Given the description of an element on the screen output the (x, y) to click on. 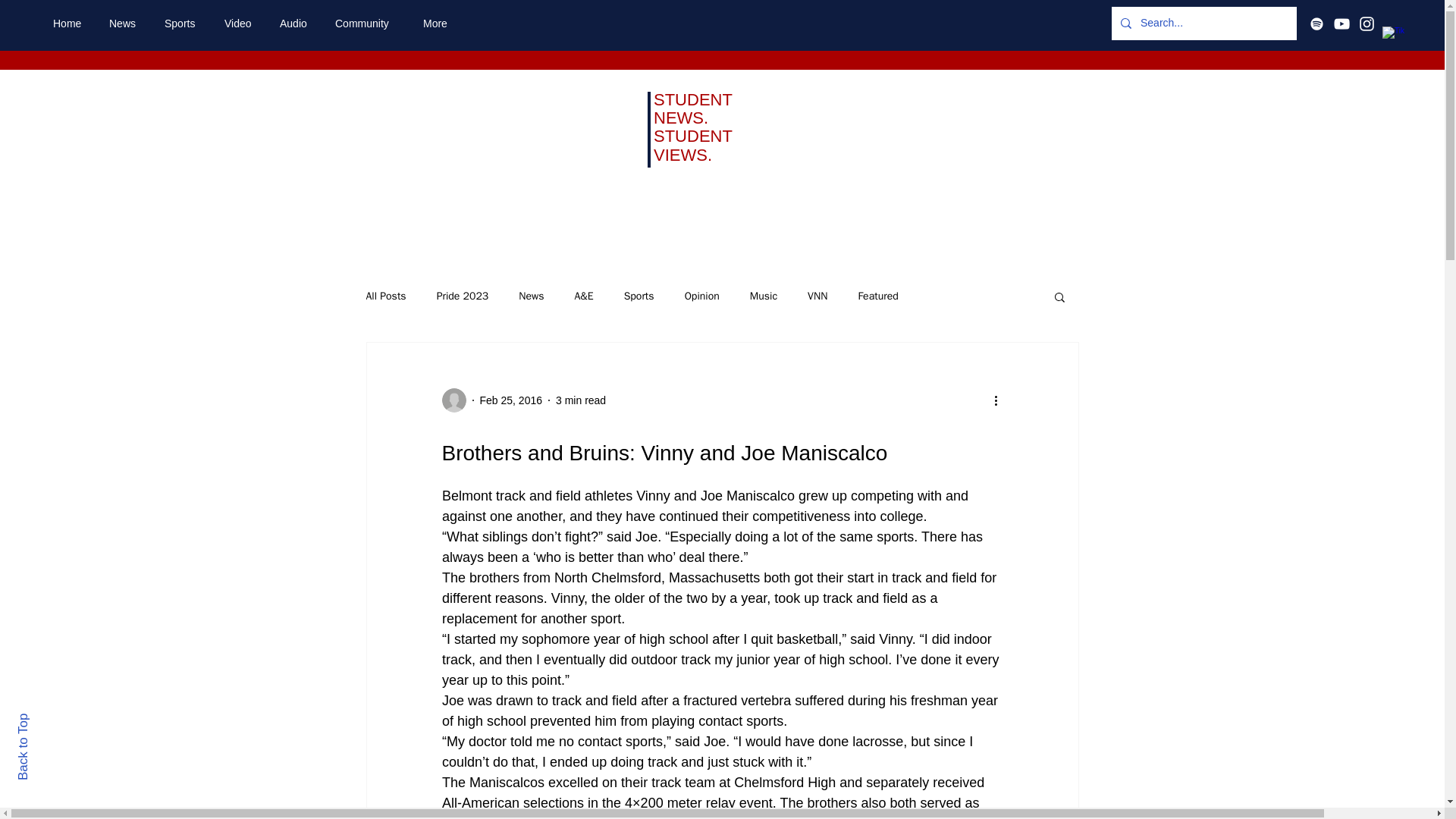
Community (367, 23)
Audio (295, 23)
VNN (817, 296)
Sports (182, 23)
Featured (877, 296)
Music (763, 296)
News (124, 23)
3 min read (580, 399)
News (530, 296)
All Posts (385, 296)
